Given the description of an element on the screen output the (x, y) to click on. 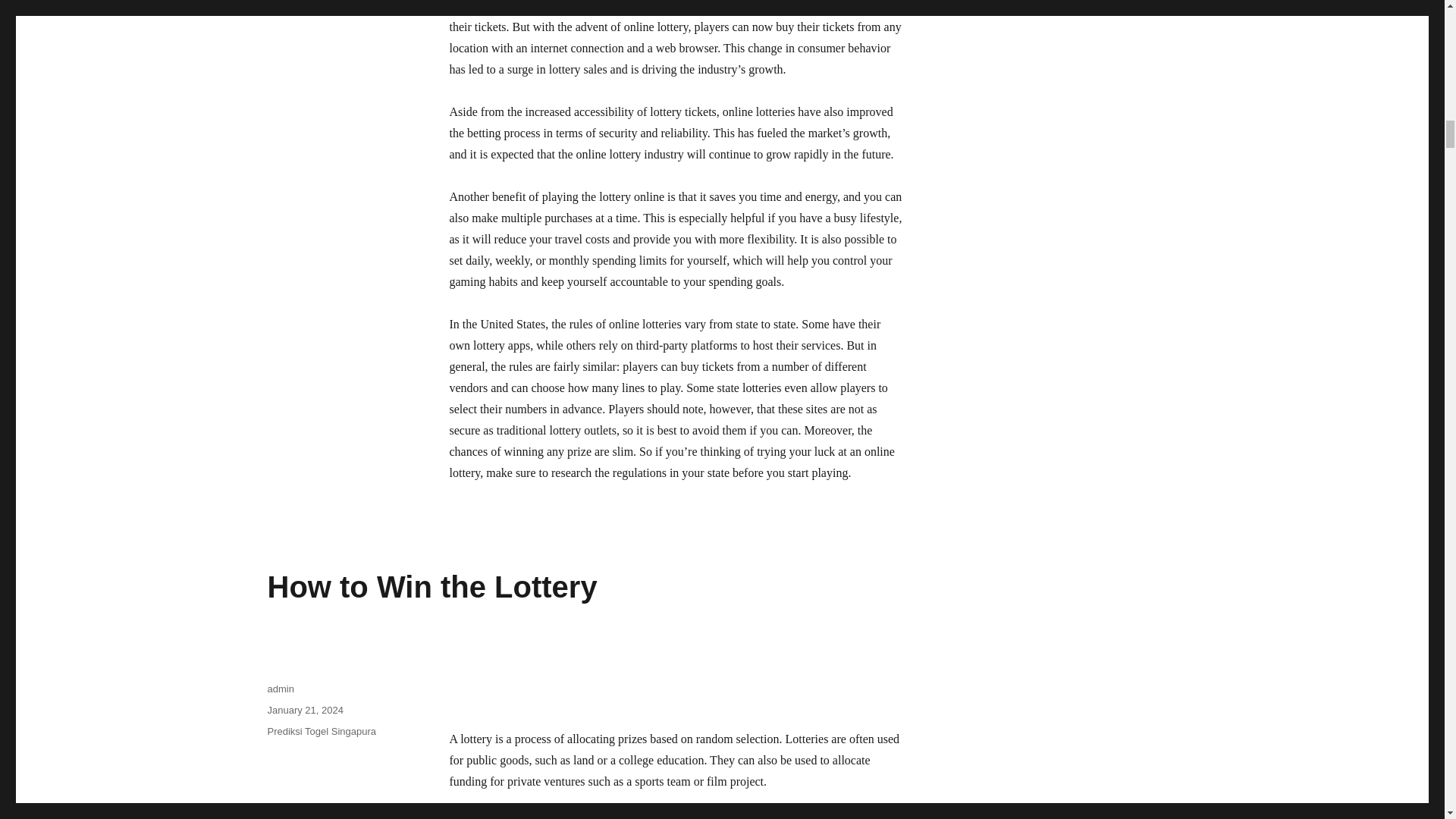
How to Win the Lottery (431, 586)
admin (280, 688)
Prediksi Togel Singapura (320, 731)
January 21, 2024 (304, 709)
